Given the description of an element on the screen output the (x, y) to click on. 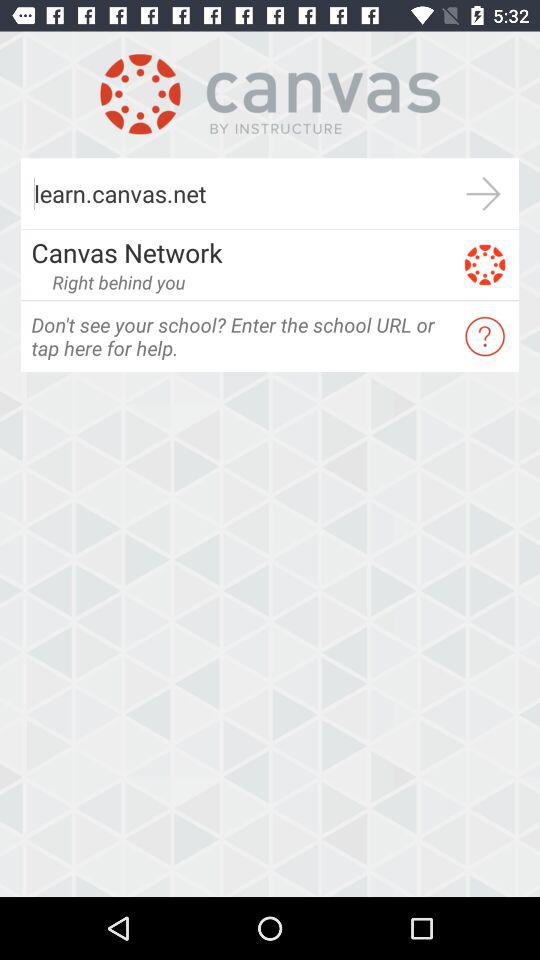
tap the right behind you item (118, 282)
